Given the description of an element on the screen output the (x, y) to click on. 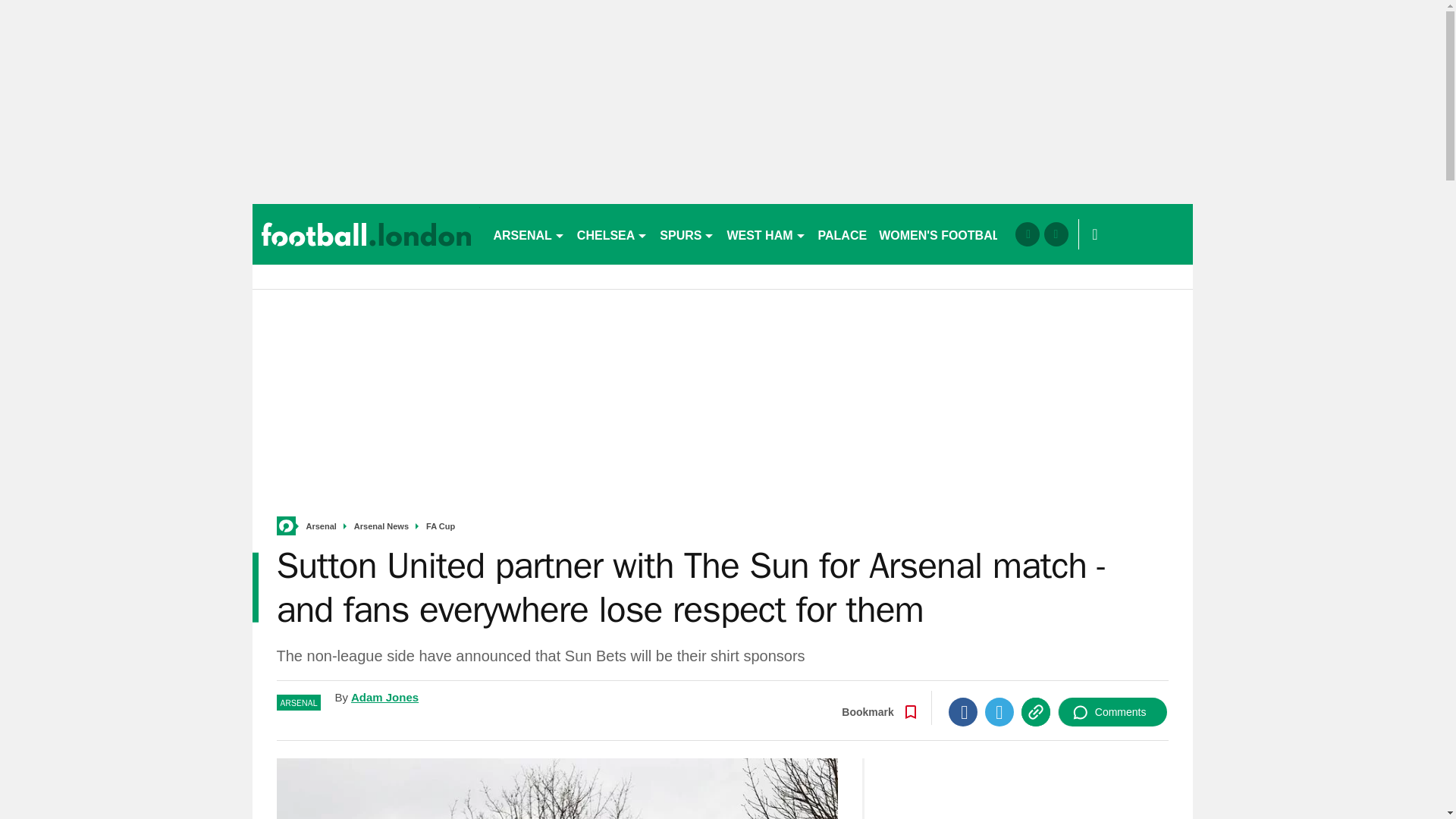
CHELSEA (611, 233)
Twitter (999, 711)
footballlondon (365, 233)
Facebook (962, 711)
PALACE (842, 233)
twitter (1055, 233)
SPURS (686, 233)
WEST HAM (765, 233)
WOMEN'S FOOTBALL (942, 233)
facebook (1026, 233)
